Given the description of an element on the screen output the (x, y) to click on. 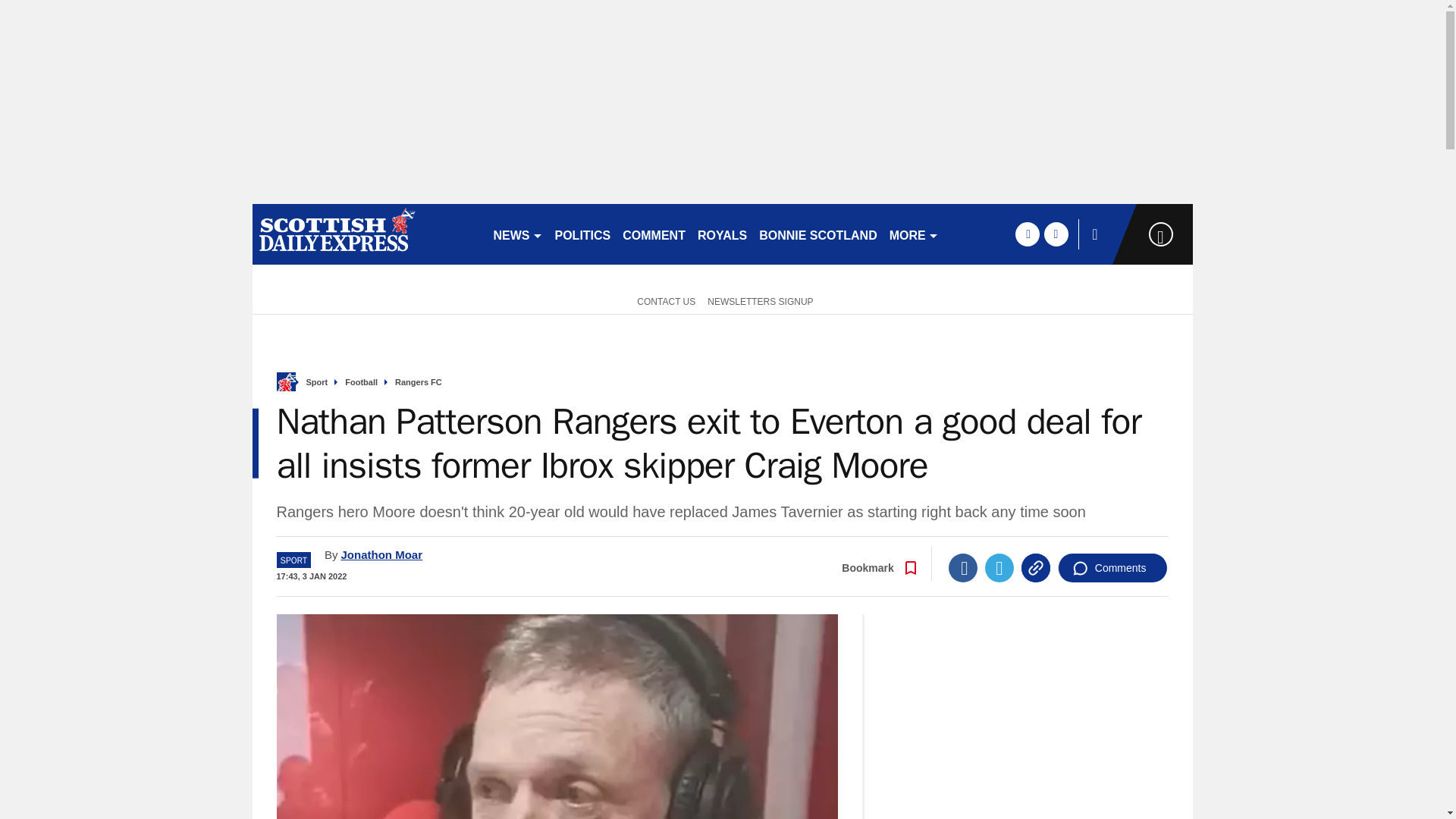
Sport (317, 382)
frontpage (285, 381)
twitter (1055, 233)
MORE (913, 233)
POLITICS (582, 233)
Comments (1112, 567)
Twitter (999, 567)
ROYALS (721, 233)
scottishdailyexpress (365, 233)
CONTACT US (662, 300)
